Given the description of an element on the screen output the (x, y) to click on. 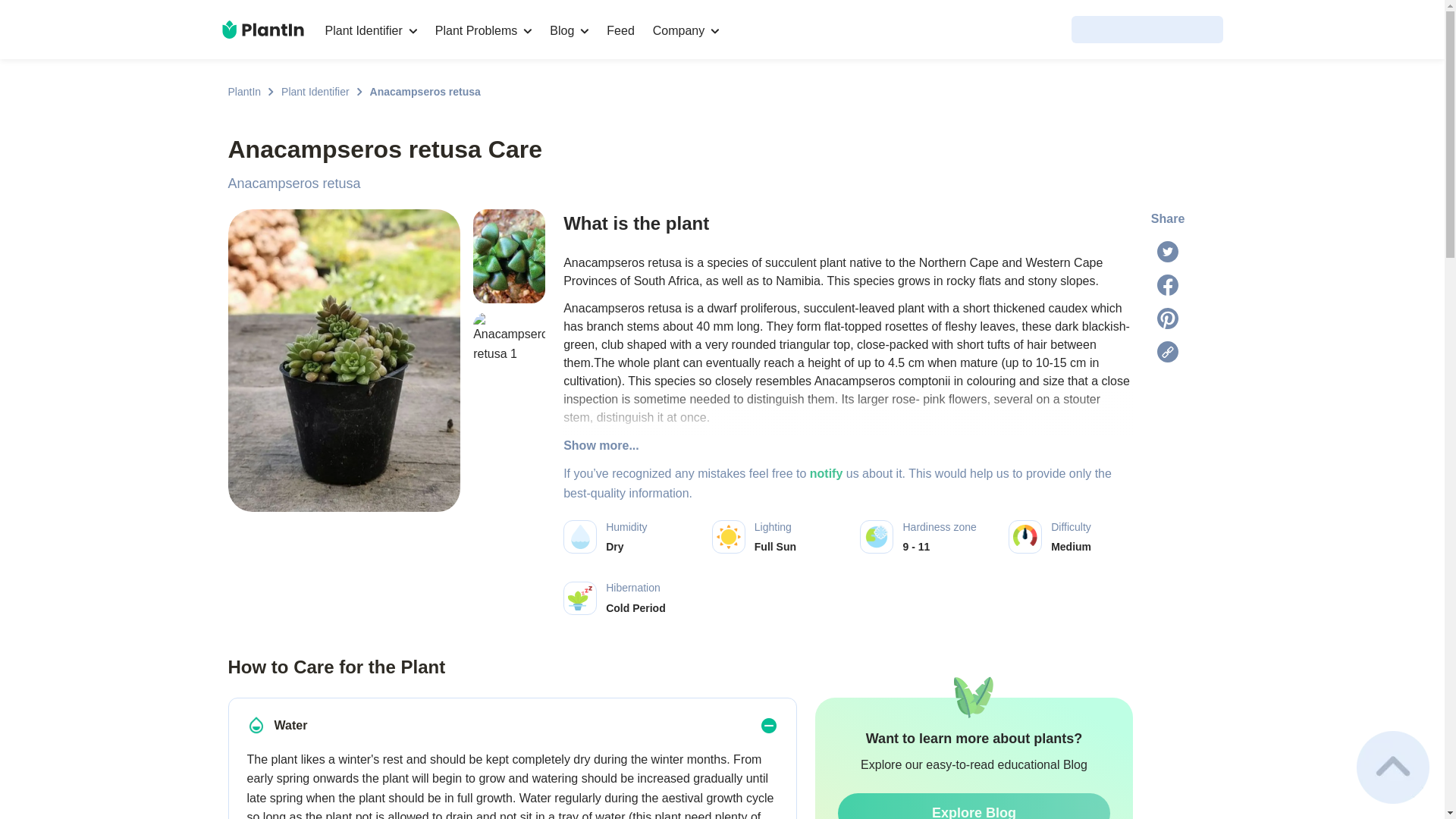
Difficulty (1024, 536)
Twitter (1167, 251)
Water (255, 724)
Plant Identifier (315, 91)
Hardiness zone (876, 536)
Hibernation (579, 598)
notify (825, 472)
Lighting (728, 536)
Plant Problems (483, 31)
Explore Blog (973, 806)
Blog (568, 31)
Plant Identifier (370, 31)
Feed (619, 31)
Humidity (579, 536)
